Given the description of an element on the screen output the (x, y) to click on. 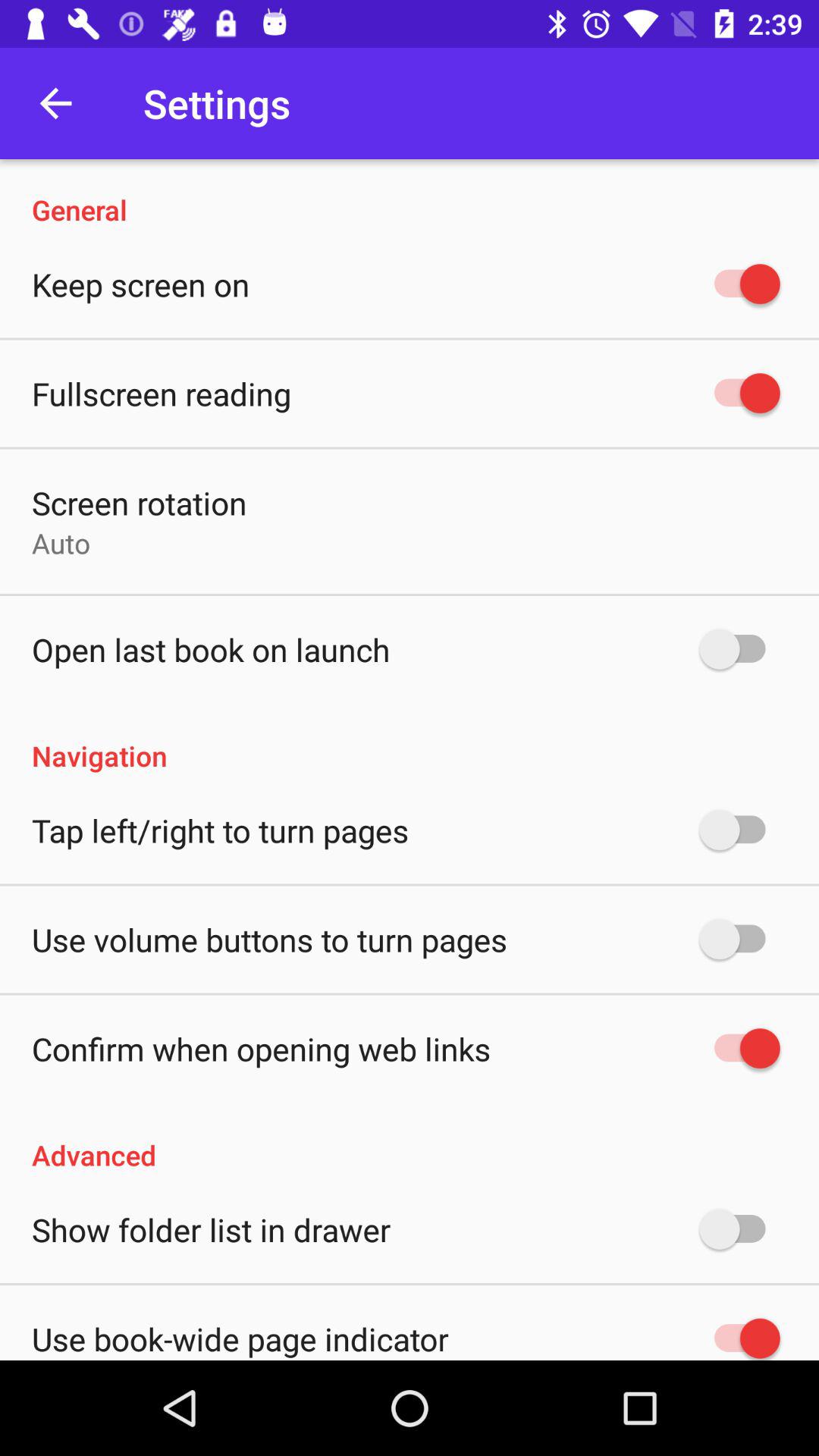
tap confirm when opening (260, 1048)
